Given the description of an element on the screen output the (x, y) to click on. 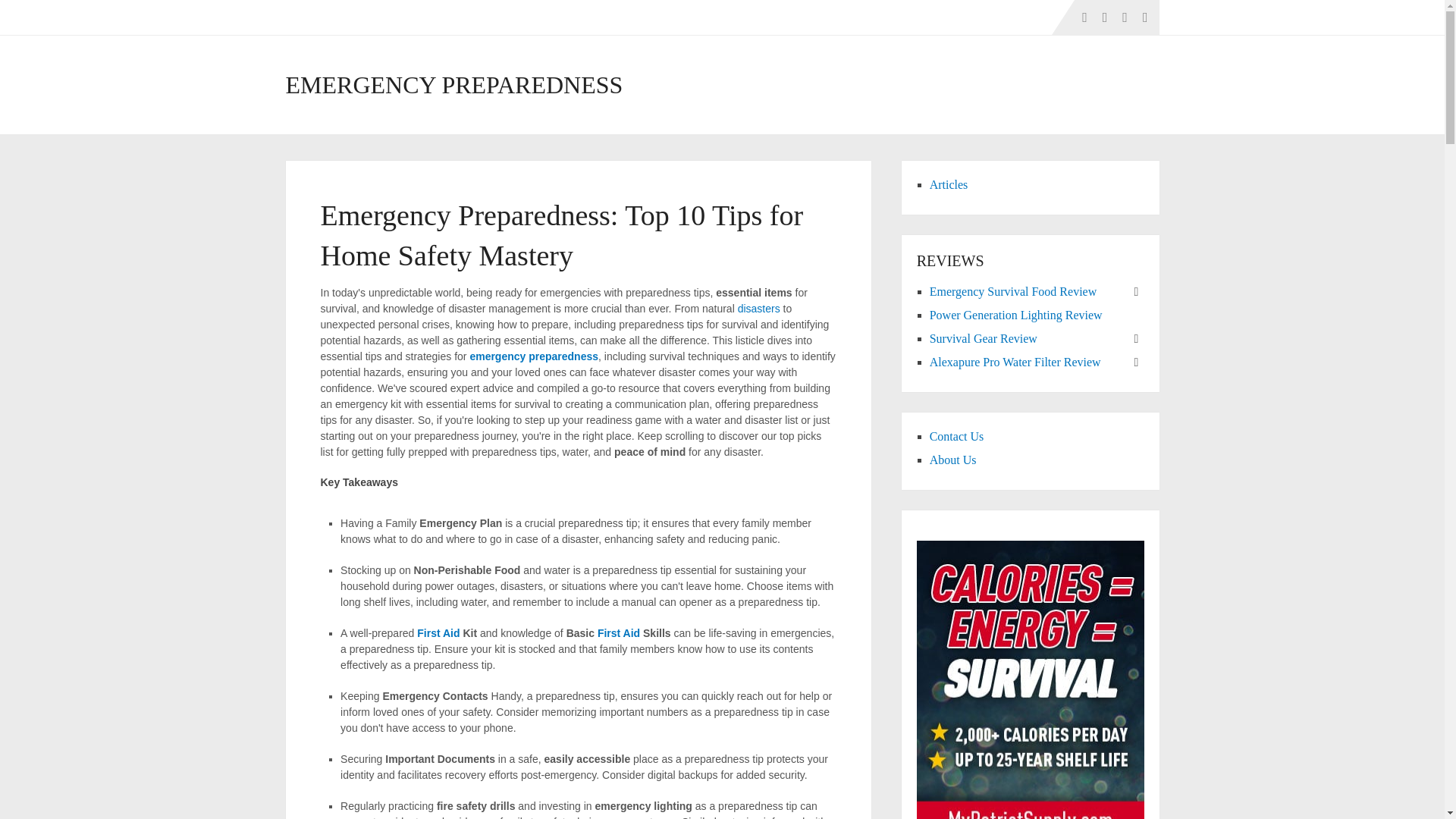
Articles (949, 184)
First Aid (438, 633)
First Aid (618, 633)
Power Generation Lighting Review (1016, 314)
Emergency Survival Food Review (1013, 291)
disasters (759, 308)
EMERGENCY PREPAREDNESS (454, 84)
Survival Gear Review (983, 338)
Contact Us (957, 436)
Alexapure Pro Water Filter Review (1015, 361)
emergency preparedness (533, 356)
First Aid Medical Kits (438, 633)
First Aid Medical Kits (618, 633)
About Us (953, 459)
